Given the description of an element on the screen output the (x, y) to click on. 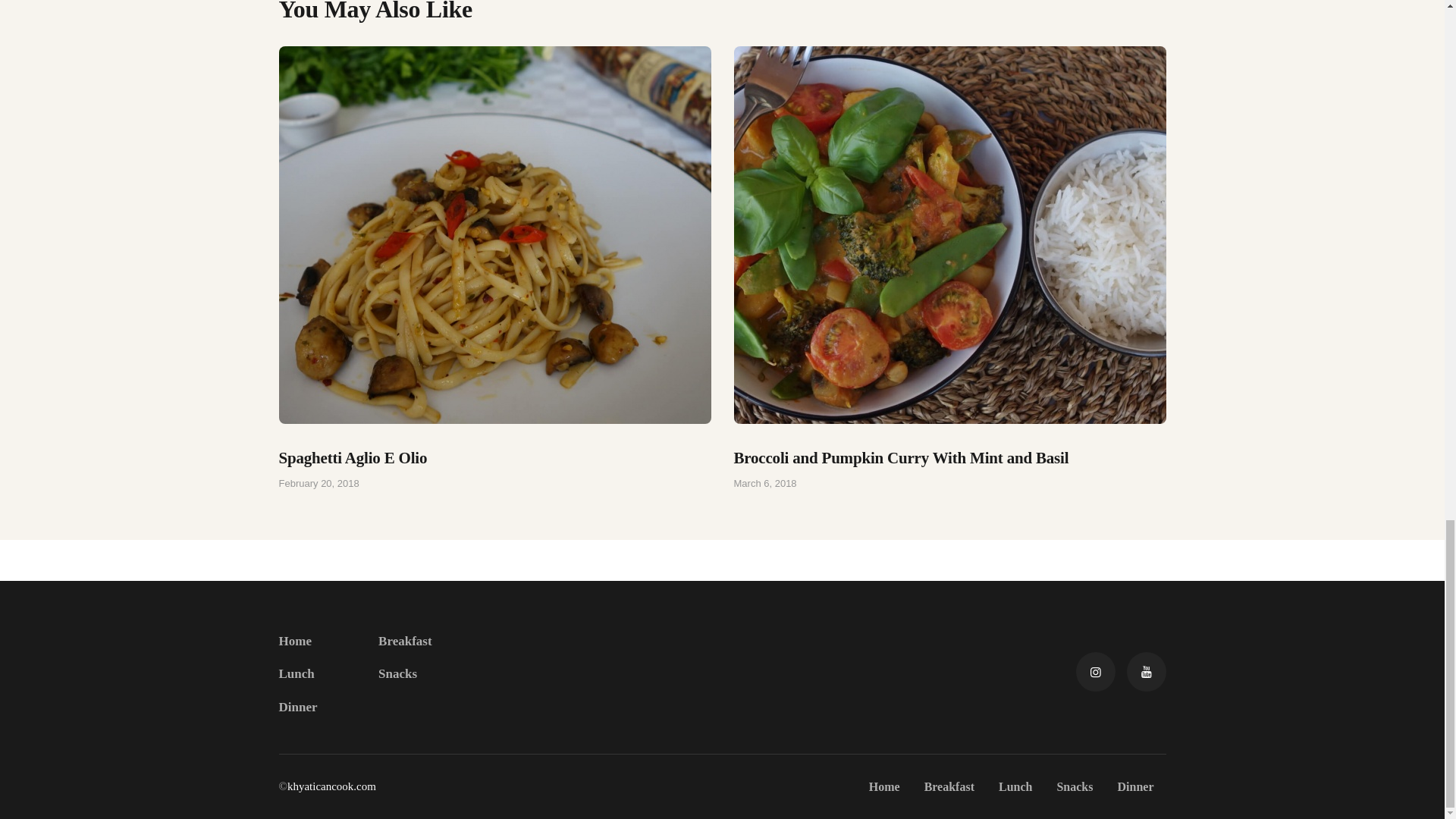
Spaghetti Aglio E Olio (495, 457)
Broccoli and Pumpkin Curry With Mint and Basil (949, 457)
February 20, 2018 (319, 482)
